Given the description of an element on the screen output the (x, y) to click on. 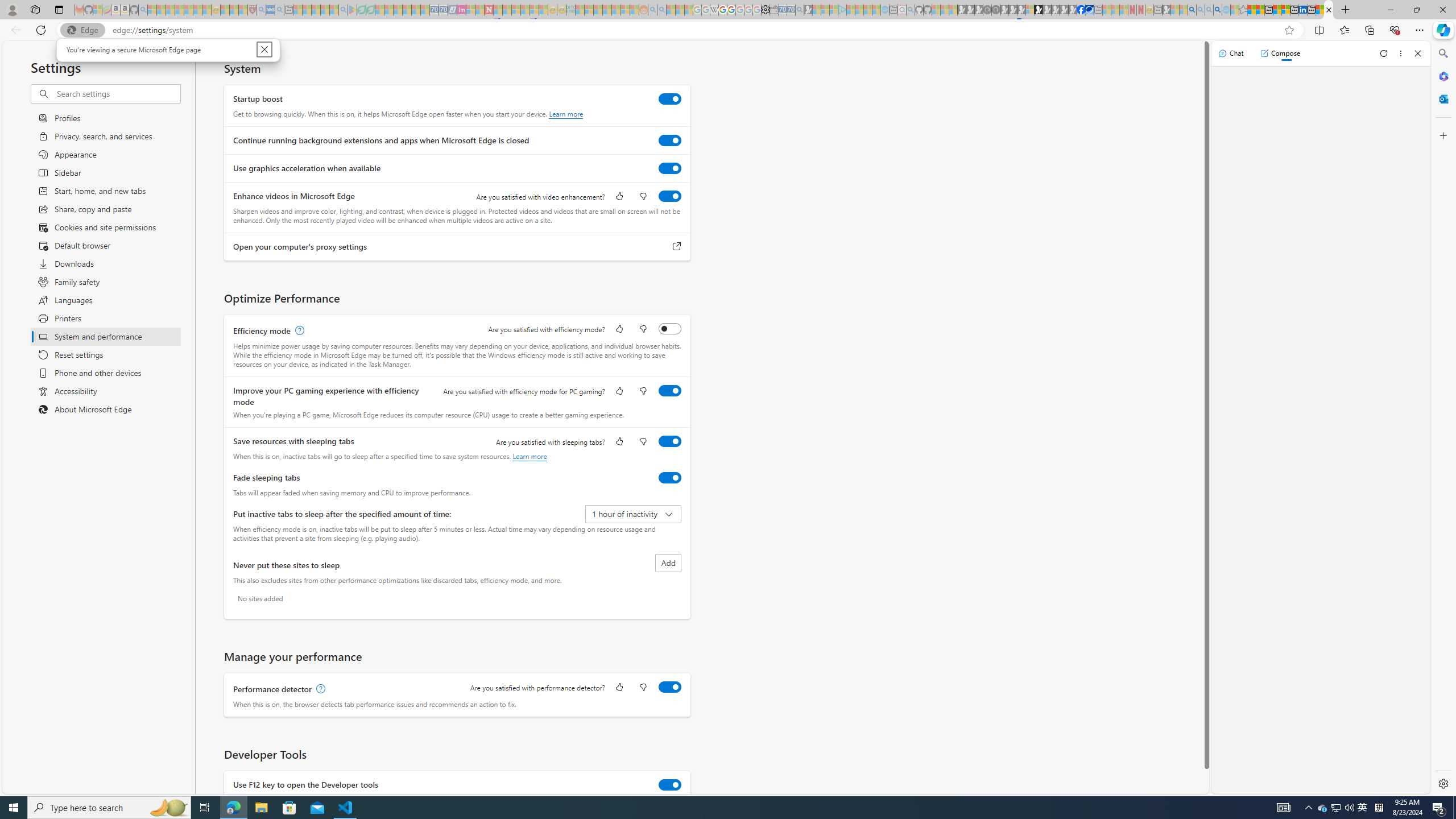
utah sues federal government - Search - Sleeping (279, 9)
Favorites - Sleeping (1243, 9)
Search settings (117, 93)
Expert Portfolios - Sleeping (606, 9)
